Given the description of an element on the screen output the (x, y) to click on. 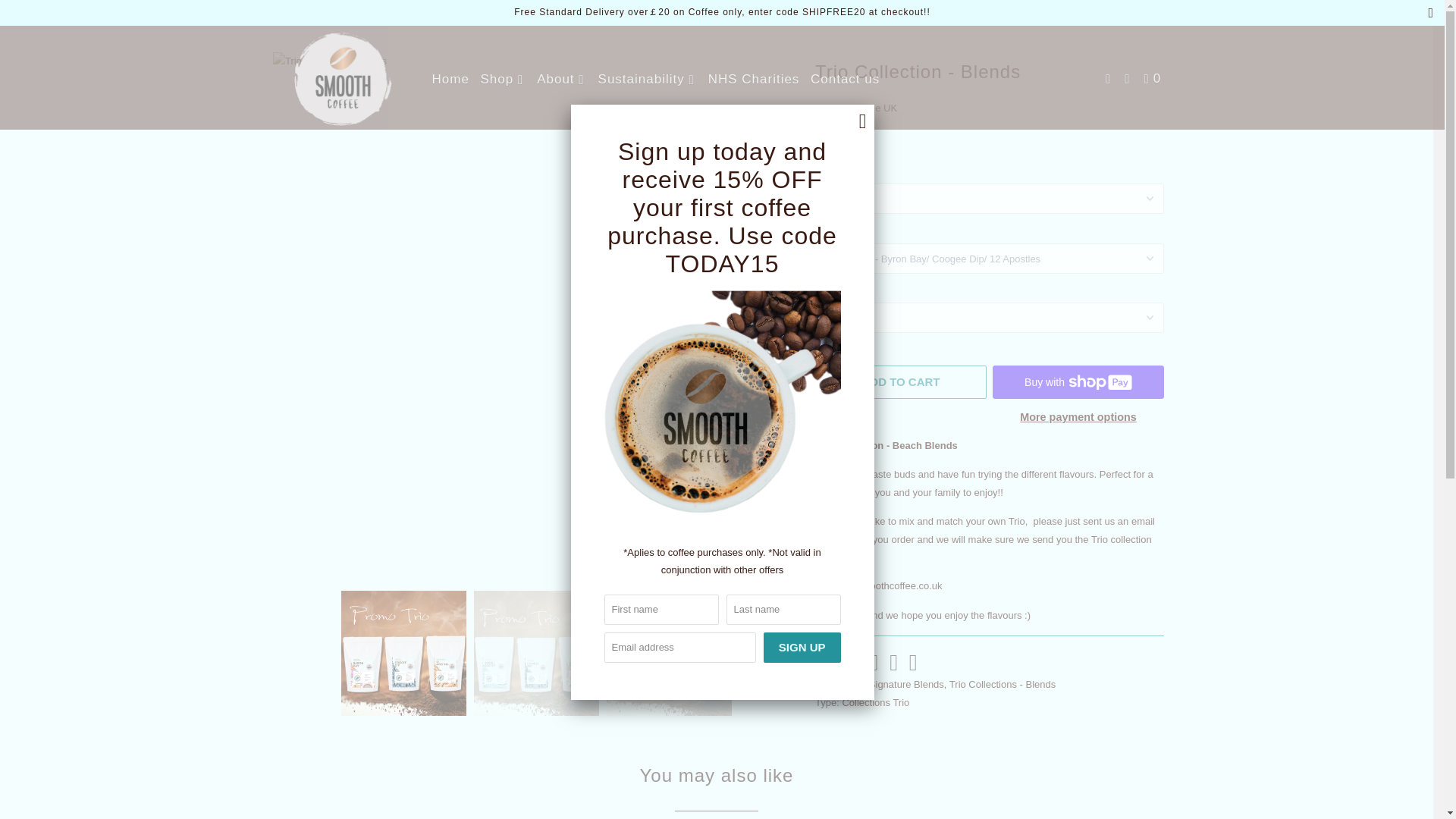
Smooth Coffee UK (855, 107)
Signature Blends (906, 684)
Trio Collections - Blends (1002, 684)
Home (450, 79)
Smooth Coffee UK (342, 77)
Sign Up (801, 647)
Collections Trio (874, 702)
